Given the description of an element on the screen output the (x, y) to click on. 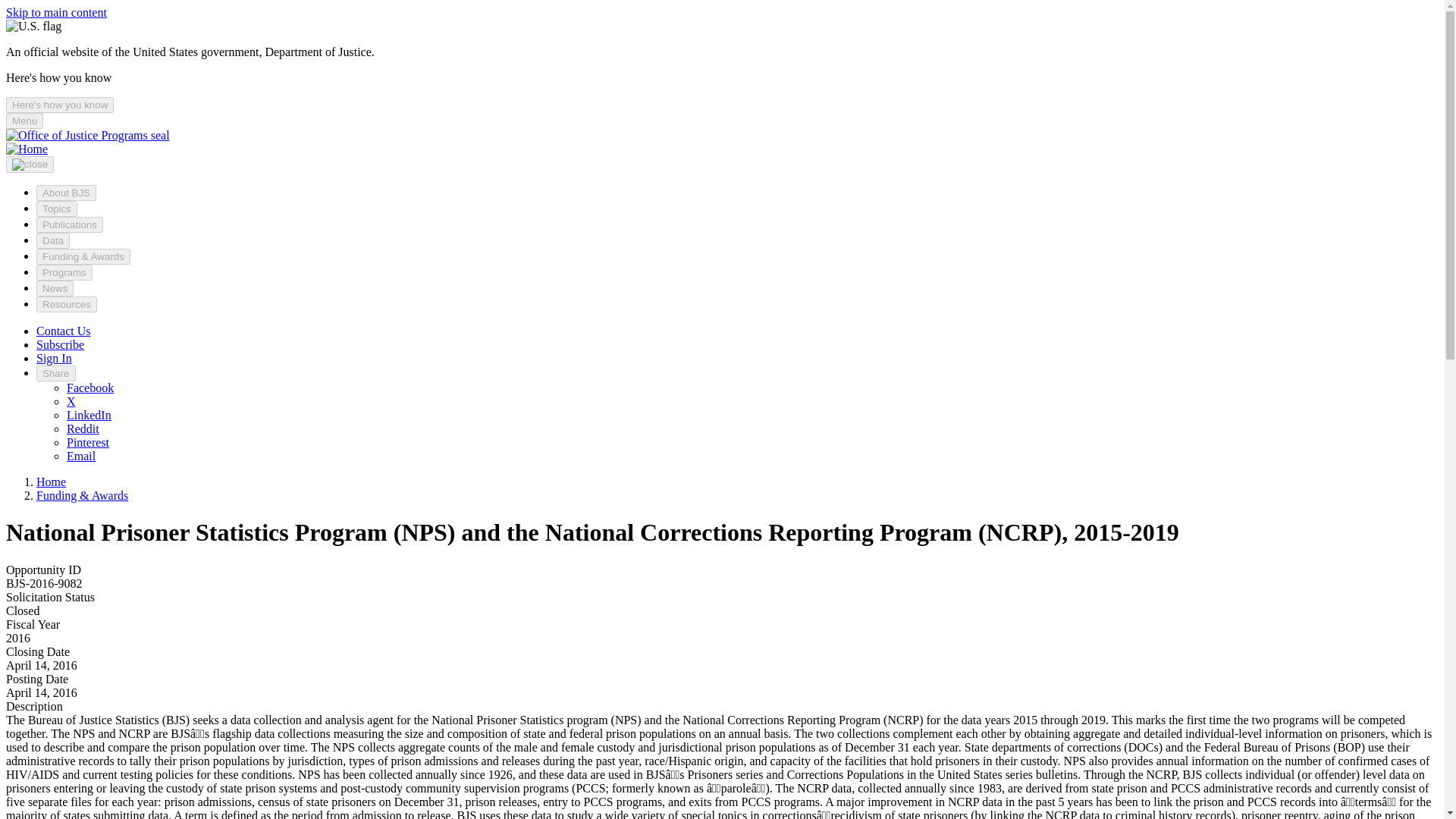
Share on Email (81, 455)
LinkedIn (89, 414)
Sign In (53, 358)
Share on LinkedIn (89, 414)
Facebook (89, 387)
Share on Pinterest (87, 441)
Choose a social sharing platform (55, 373)
Subscribe (60, 344)
Share on Reddit (82, 428)
Share (55, 373)
